Given the description of an element on the screen output the (x, y) to click on. 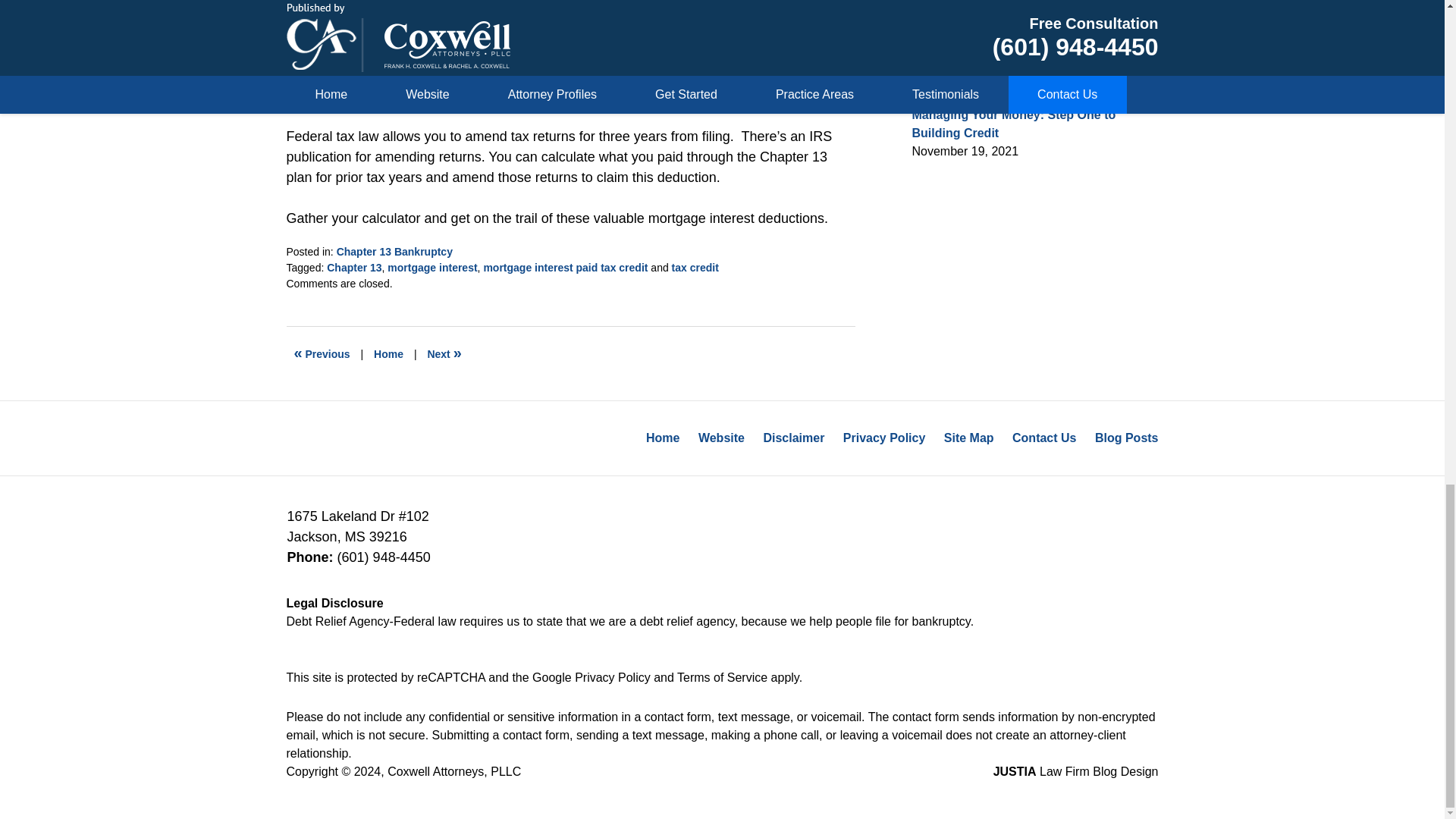
mortgage interest (432, 267)
Chapter 13 Bankruptcy (394, 251)
View all posts tagged with tax credit (695, 267)
View all posts tagged with mortgage interest paid tax credit (565, 267)
View all posts in Chapter 13 Bankruptcy (394, 251)
Home (388, 353)
View all posts tagged with Chapter 13 (353, 267)
mortgage interest paid tax credit (565, 267)
Chapter 13 (353, 267)
View all posts tagged with mortgage interest (432, 267)
Avoid having too much or too little income tax withheld. (443, 353)
tax credit (695, 267)
